Given the description of an element on the screen output the (x, y) to click on. 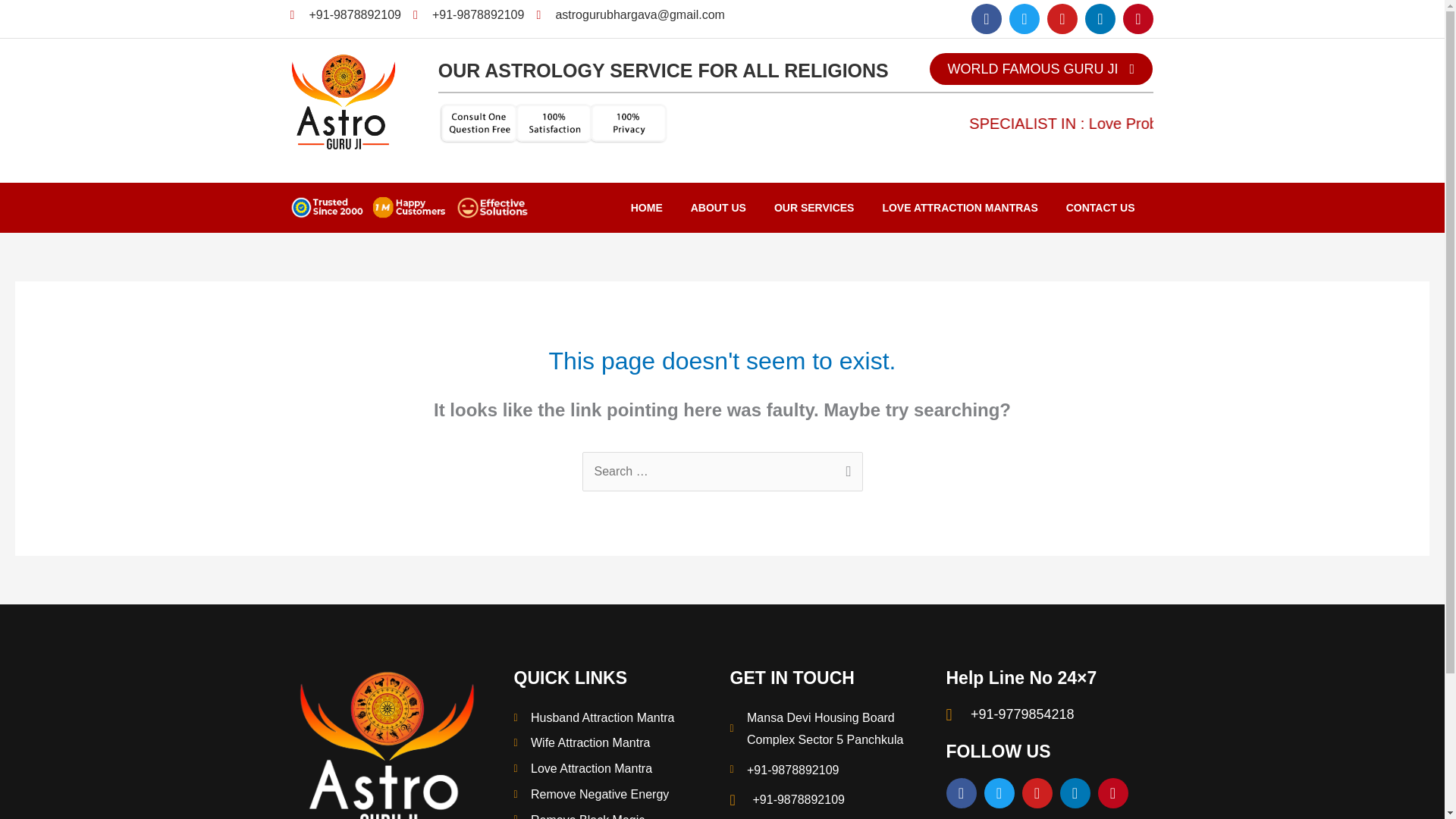
Husband Attraction Mantra (613, 717)
Remove Black Magic (613, 814)
ABOUT US (718, 207)
LOVE ATTRACTION MANTRAS (959, 207)
CONTACT US (1100, 207)
OUR SERVICES (813, 207)
Love Attraction Mantra (613, 768)
HOME (646, 207)
Wife Attraction Mantra (613, 743)
Remove Negative Energy (613, 793)
